Given the description of an element on the screen output the (x, y) to click on. 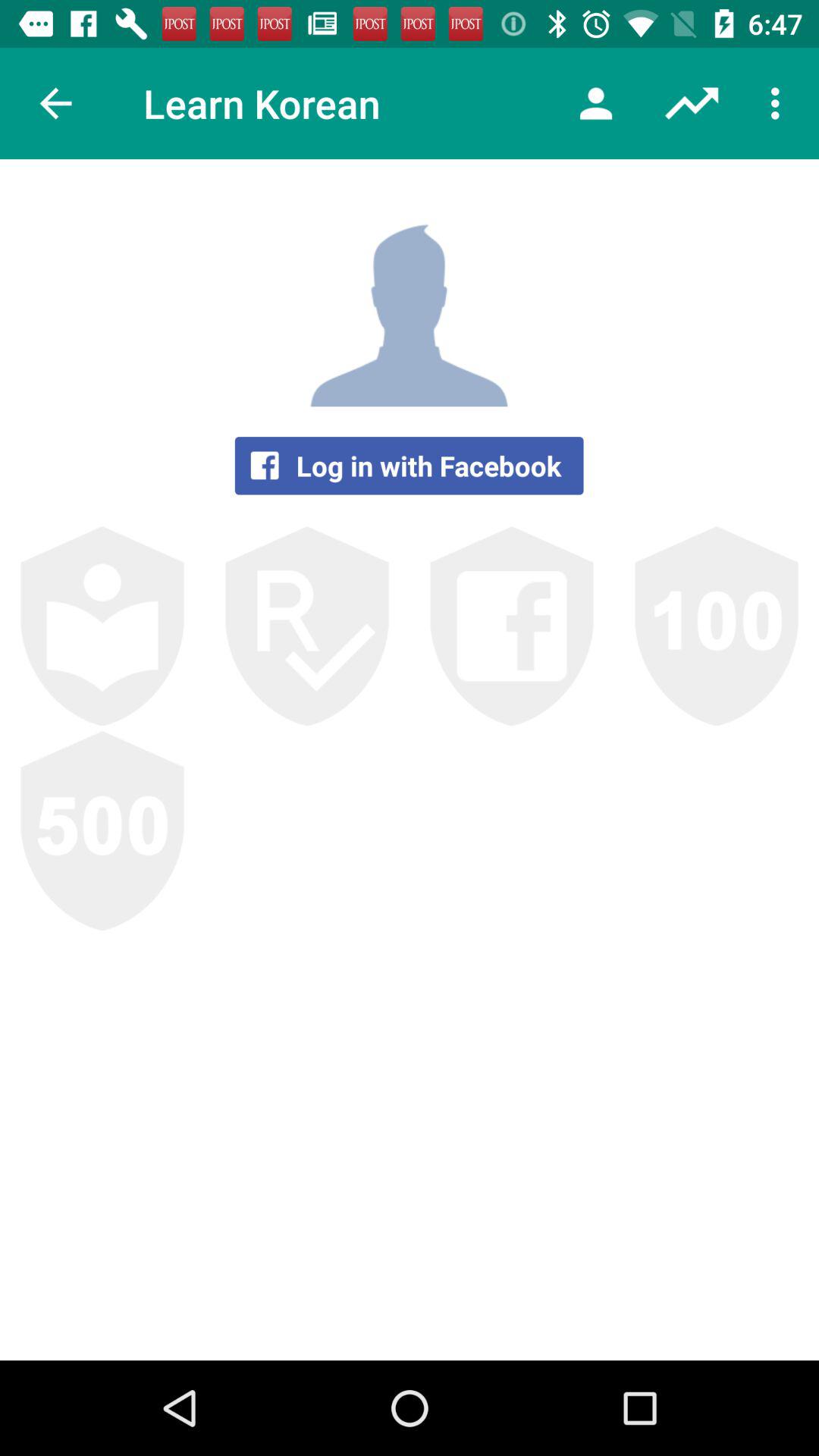
tap the item to the left of the learn korean icon (55, 103)
